Given the description of an element on the screen output the (x, y) to click on. 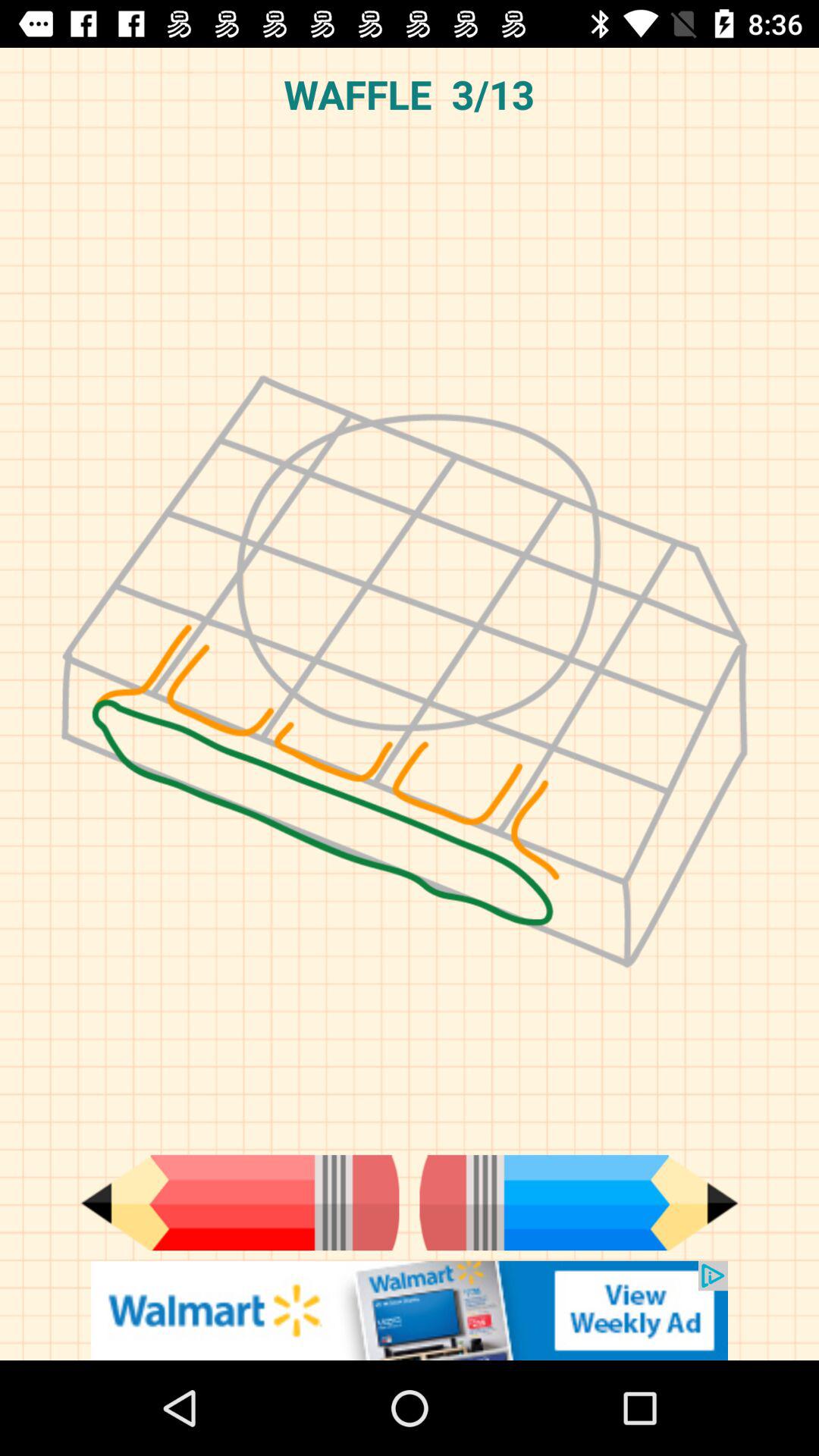
advertisement (409, 1310)
